Given the description of an element on the screen output the (x, y) to click on. 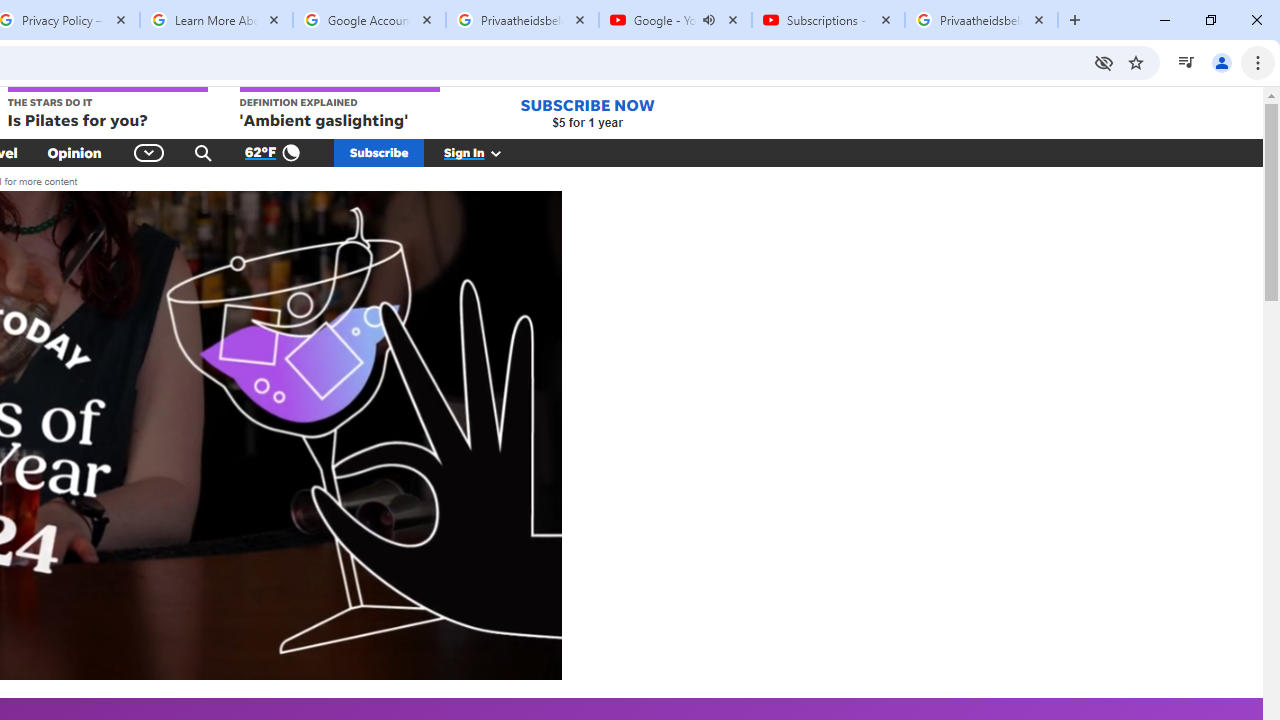
SUBSCRIBE NOW $5 for 1 year (587, 112)
Subscriptions - YouTube (827, 20)
Subscribe (379, 152)
Global Navigation (149, 152)
Google - YouTube - Audio playing (675, 20)
THE STARS DO IT Is Pilates for you? (106, 109)
Google Account (369, 20)
Opinion (74, 152)
